Given the description of an element on the screen output the (x, y) to click on. 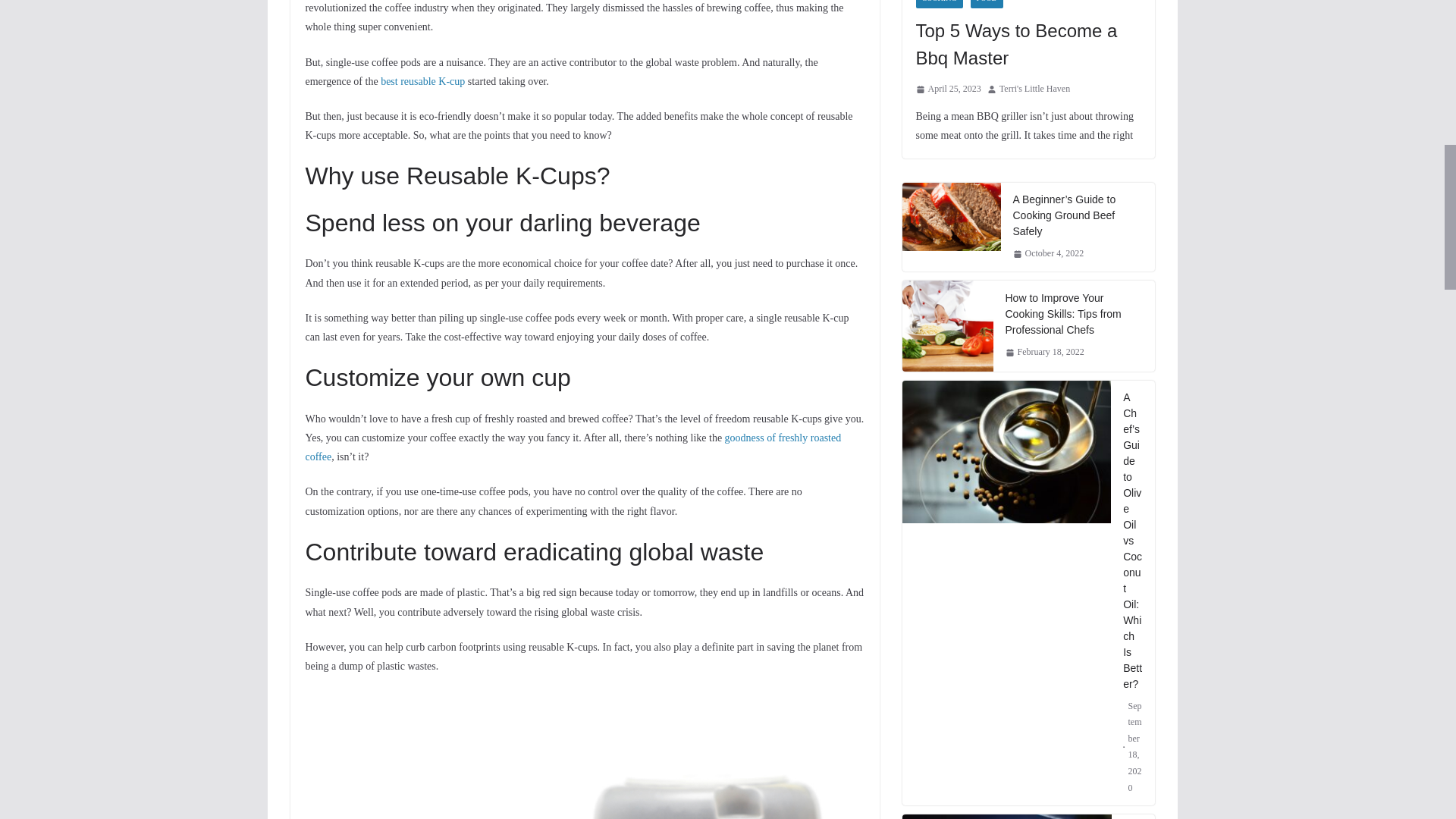
best reusable K-cup (422, 81)
goodness of freshly roasted coffee (572, 447)
